Given the description of an element on the screen output the (x, y) to click on. 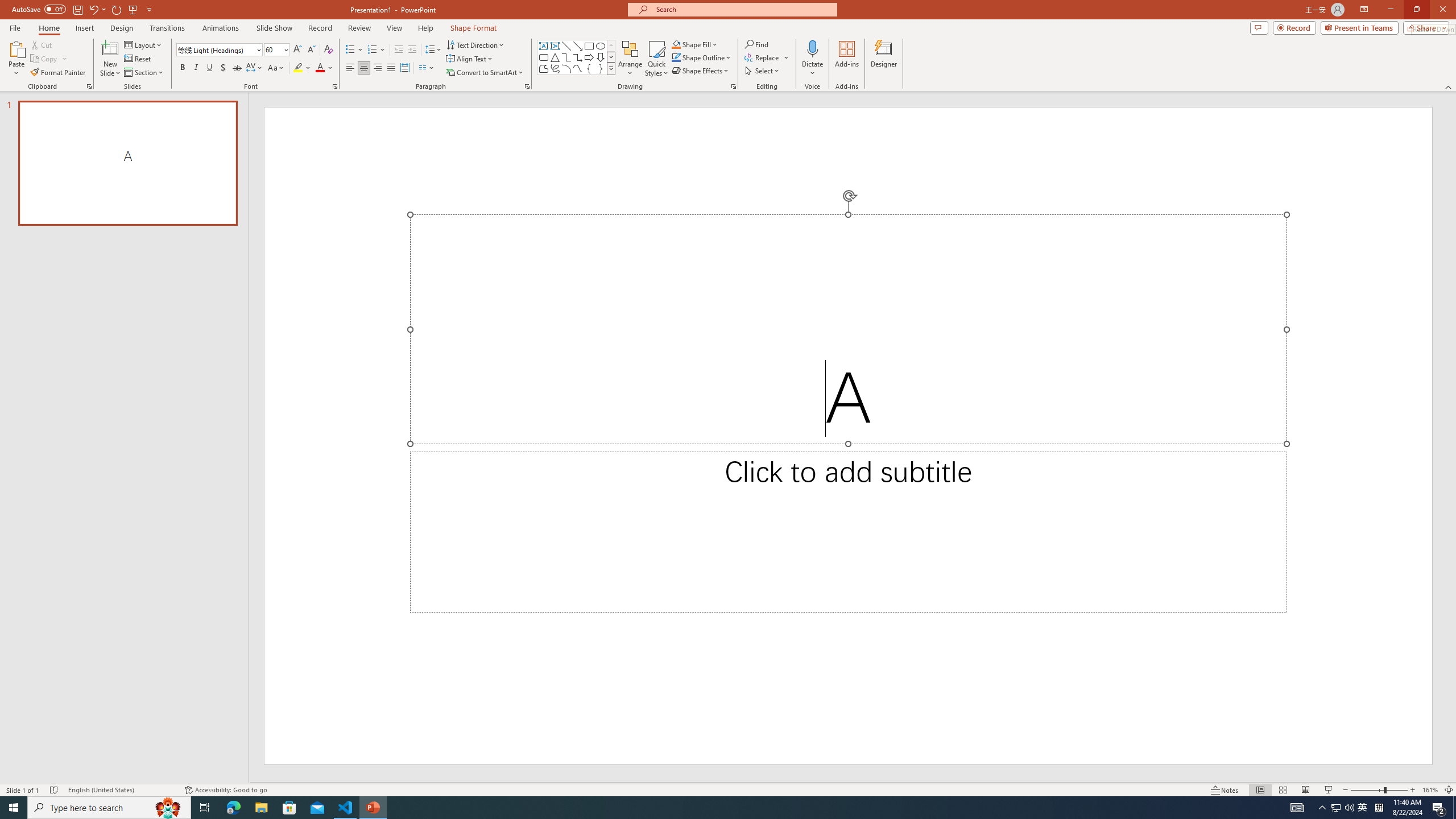
Shape Fill Orange, Accent 2 (675, 44)
